Given the description of an element on the screen output the (x, y) to click on. 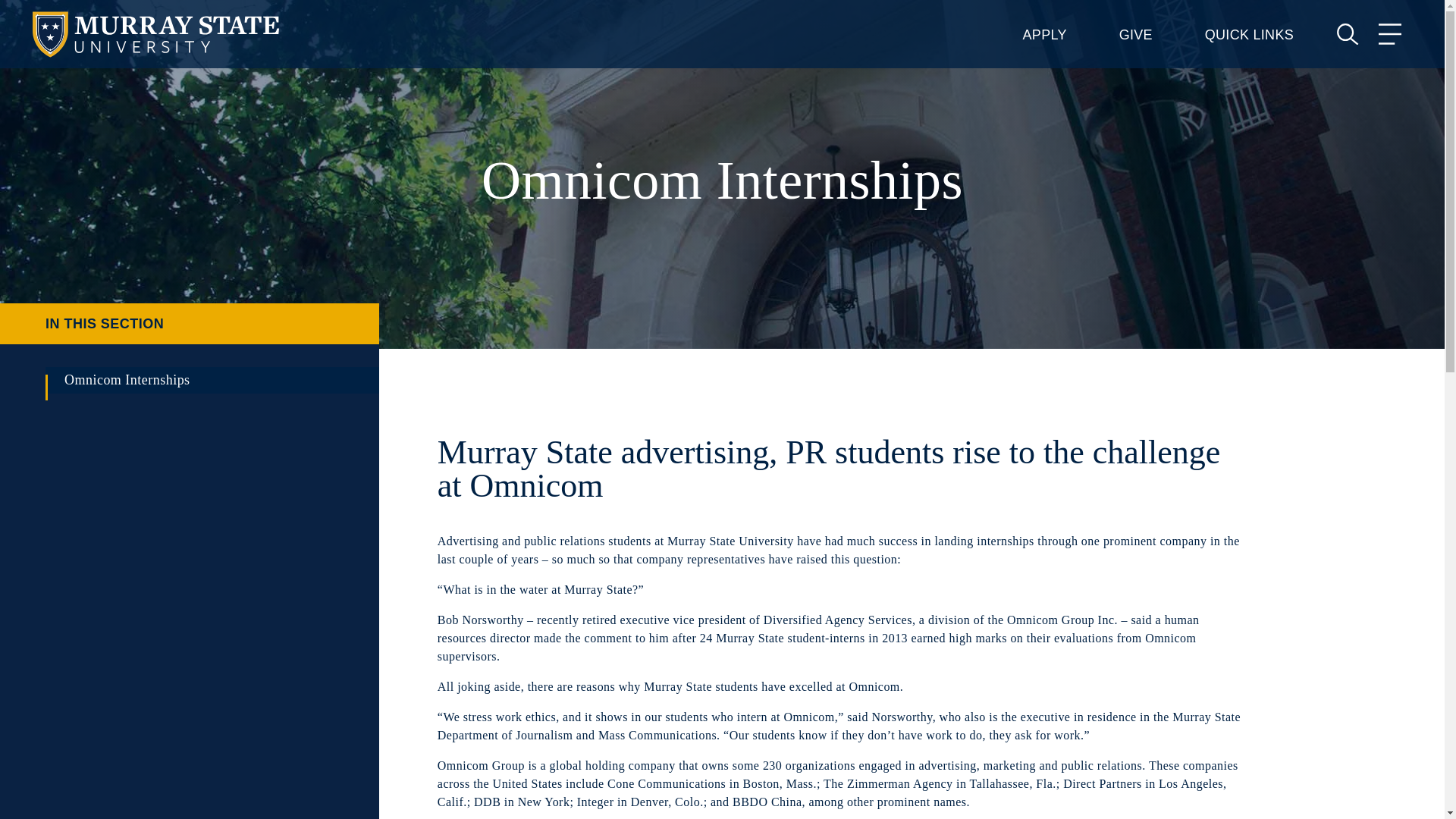
APPLY (1045, 35)
GIVE (1136, 35)
side navigation menu toggle (189, 323)
